Given the description of an element on the screen output the (x, y) to click on. 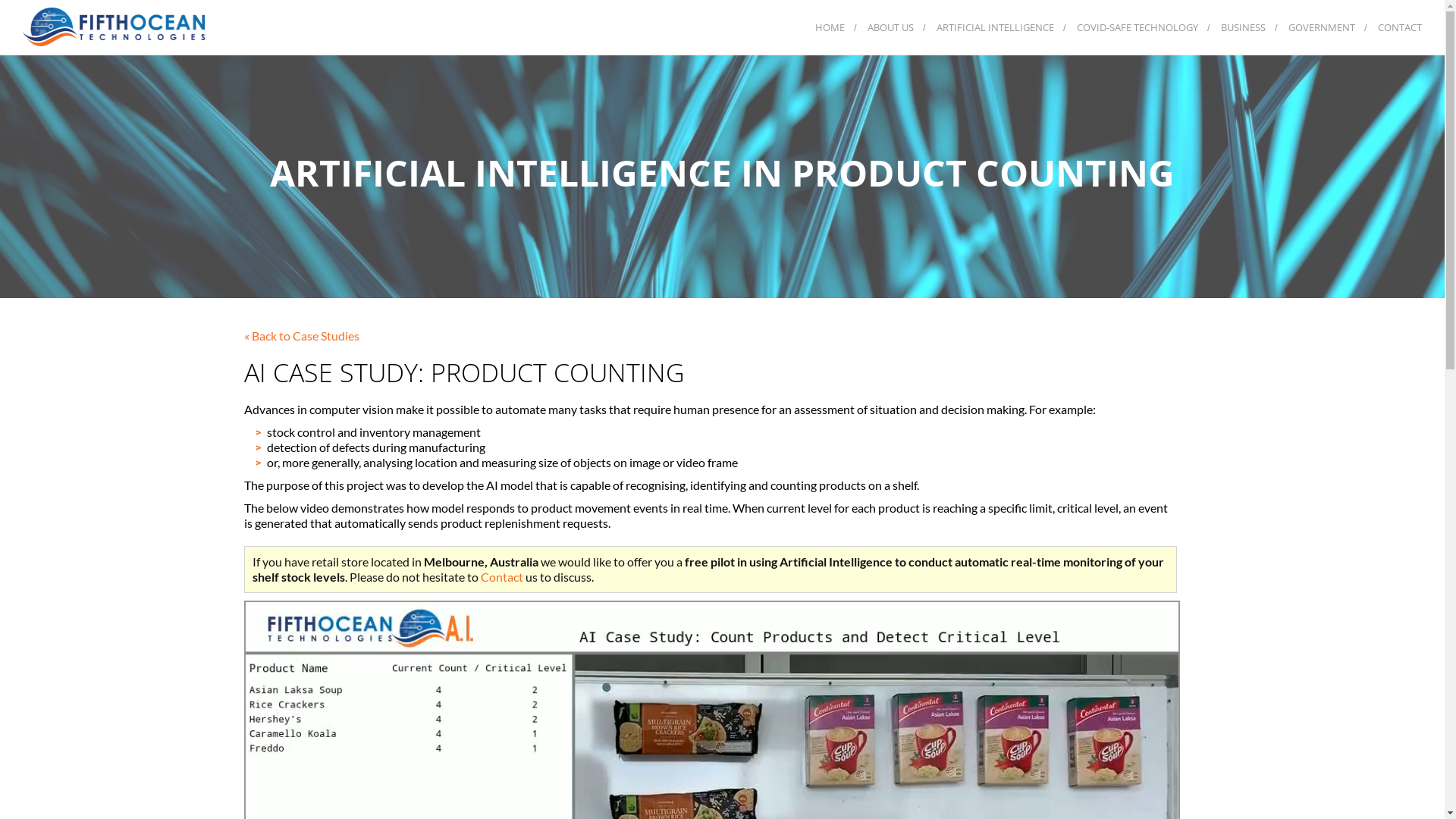
Contact Element type: text (501, 576)
GOVERNMENT Element type: text (1321, 27)
HOME Element type: text (829, 27)
COVID-SAFE TECHNOLOGY Element type: text (1137, 27)
BUSINESS Element type: text (1242, 27)
ARTIFICIAL INTELLIGENCE Element type: text (995, 27)
ABOUT US Element type: text (890, 27)
CONTACT Element type: text (1399, 27)
